Given the description of an element on the screen output the (x, y) to click on. 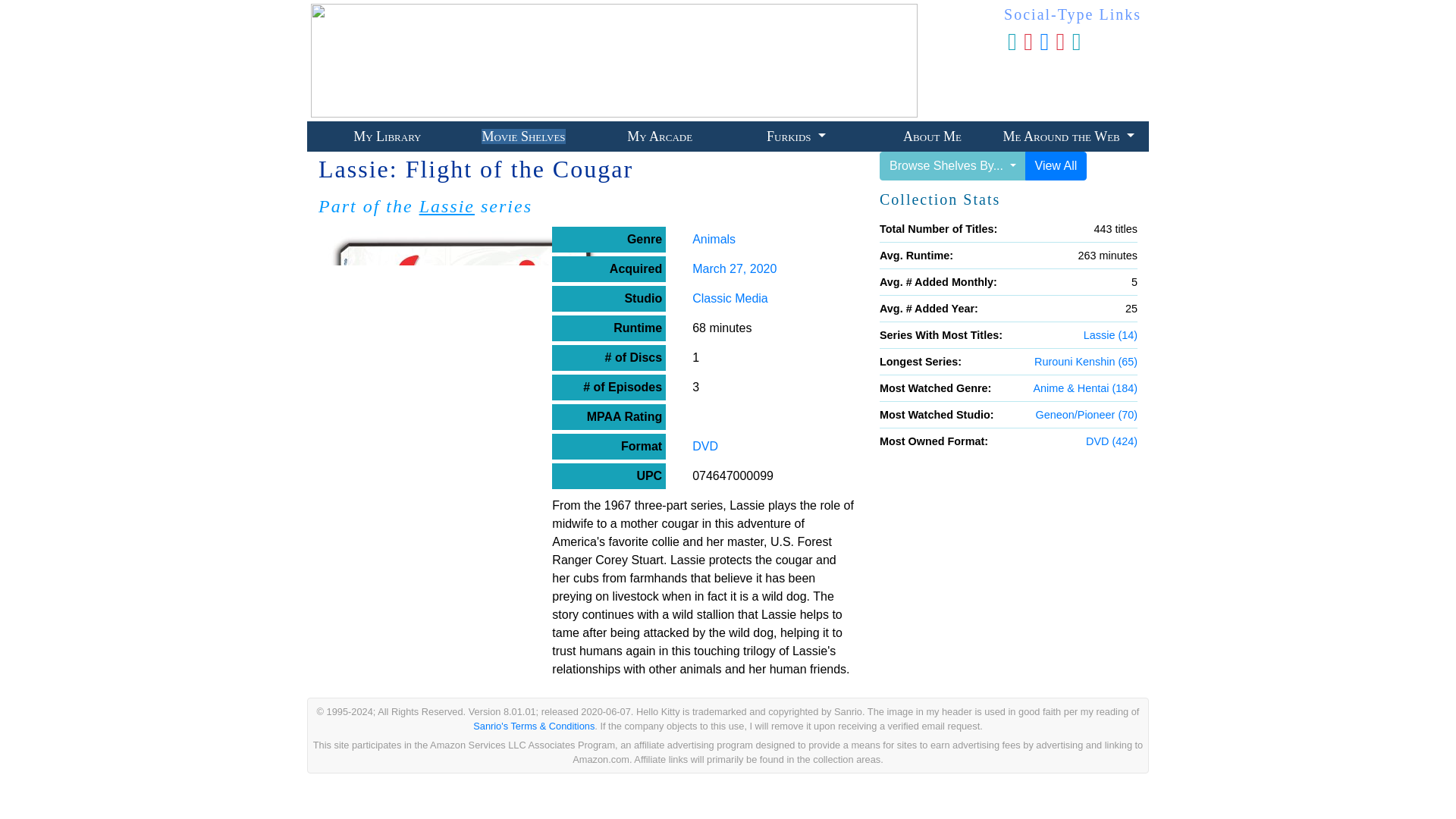
My Library (386, 136)
About Me (931, 136)
Furkids (796, 136)
Furkids (796, 136)
Classic Media (730, 297)
Movie Shelves (522, 136)
My Arcade (660, 136)
March 27, 2020 (734, 268)
About Me (931, 136)
Animals (714, 238)
